Given the description of an element on the screen output the (x, y) to click on. 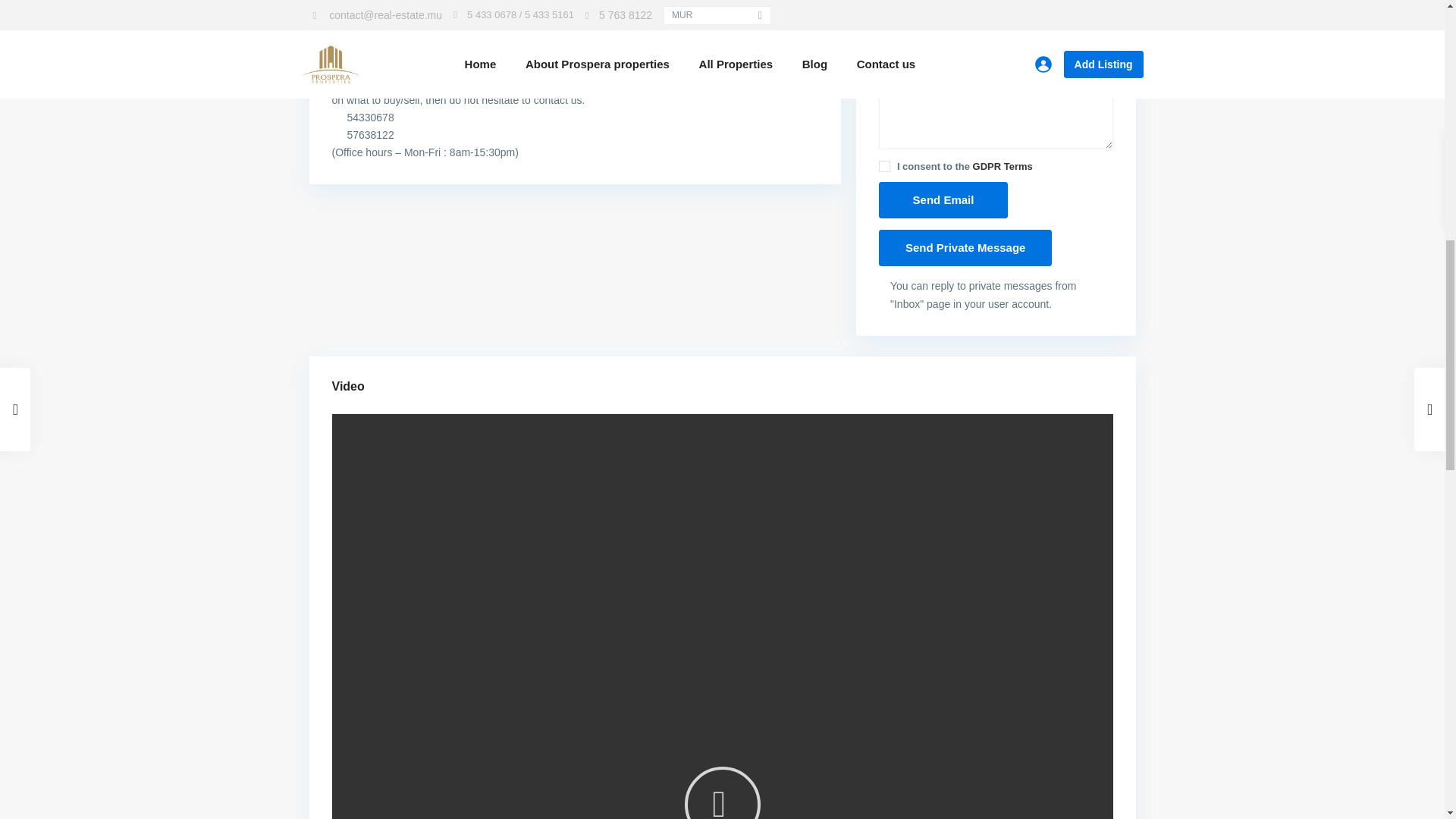
on (884, 165)
Send Private Message (965, 248)
Send Email (943, 199)
